Given the description of an element on the screen output the (x, y) to click on. 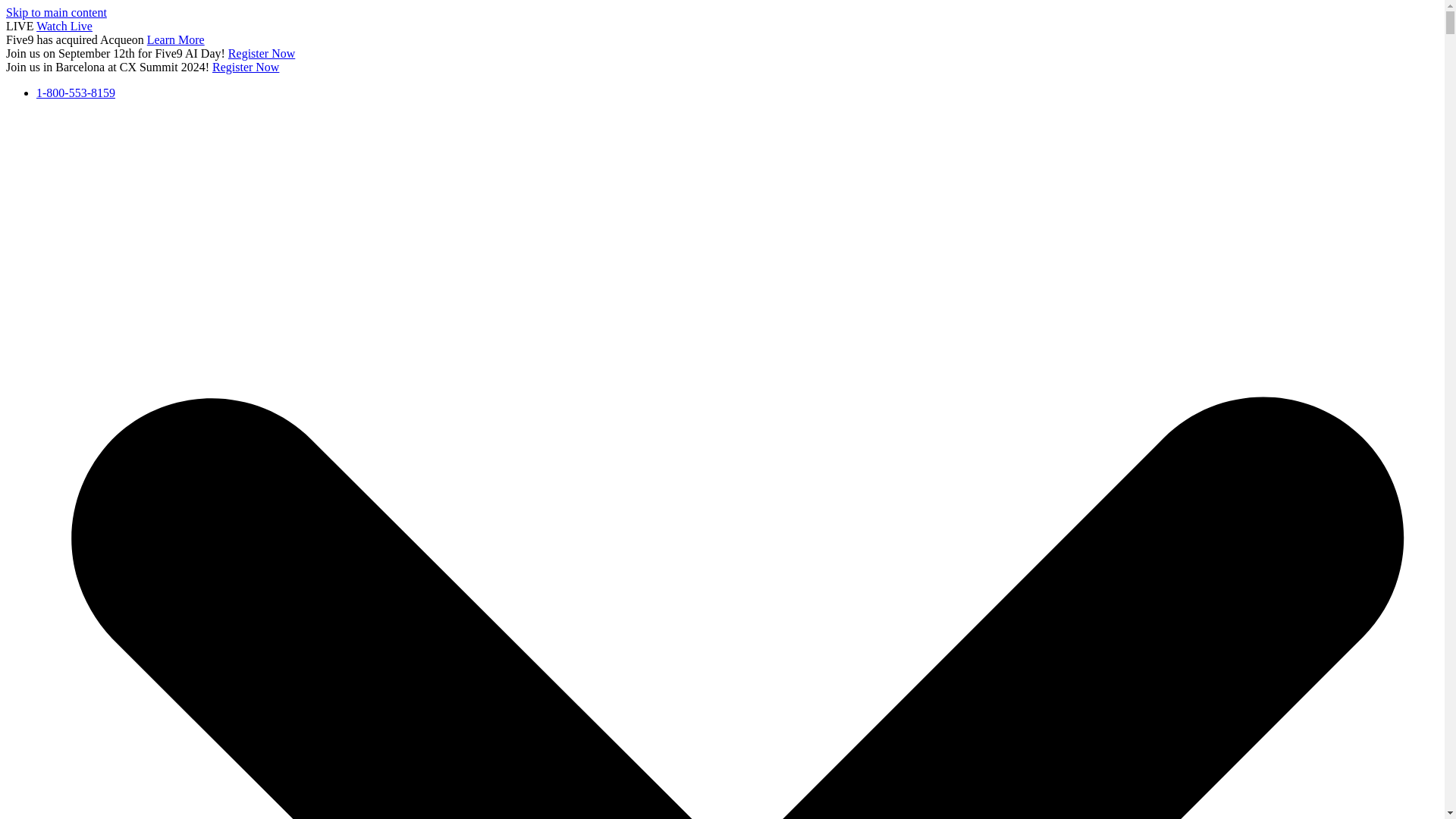
1-800-553-8159 (75, 92)
Watch Live (64, 25)
Skip to main content (55, 11)
Learn More (176, 39)
Register Now (261, 52)
Register Now (245, 66)
